Given the description of an element on the screen output the (x, y) to click on. 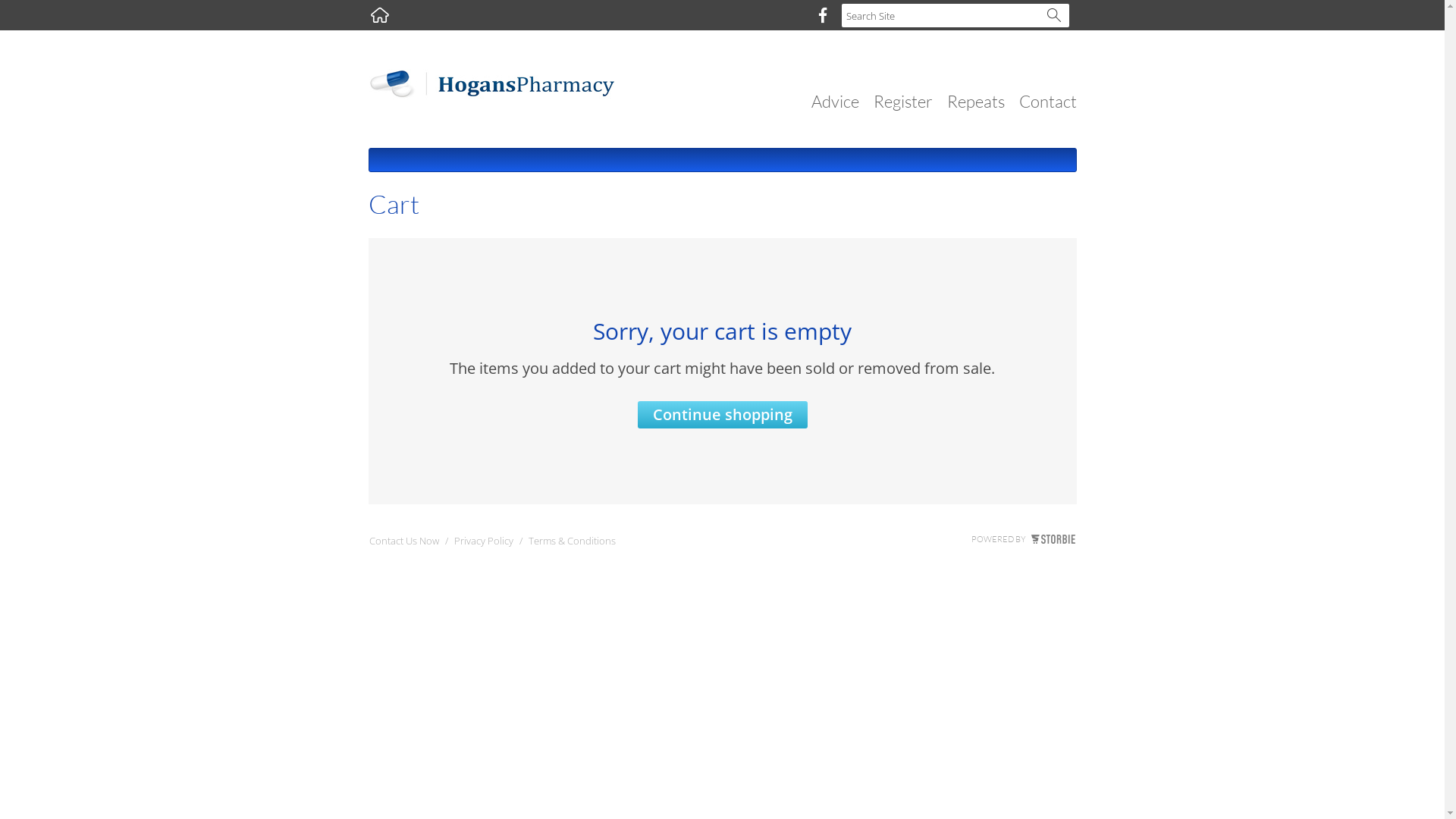
Contact Element type: text (1047, 101)
Continue shopping Element type: text (721, 414)
POWERED BY Element type: text (1022, 538)
Privacy Policy Element type: text (482, 544)
Terms & Conditions Element type: text (571, 544)
Contact Us Now Element type: text (403, 544)
Register Element type: text (902, 101)
Repeats Element type: text (975, 101)
Home Element type: hover (379, 15)
Advice Element type: text (835, 101)
Facebook Element type: hover (821, 15)
  Element type: text (379, 15)
